Given the description of an element on the screen output the (x, y) to click on. 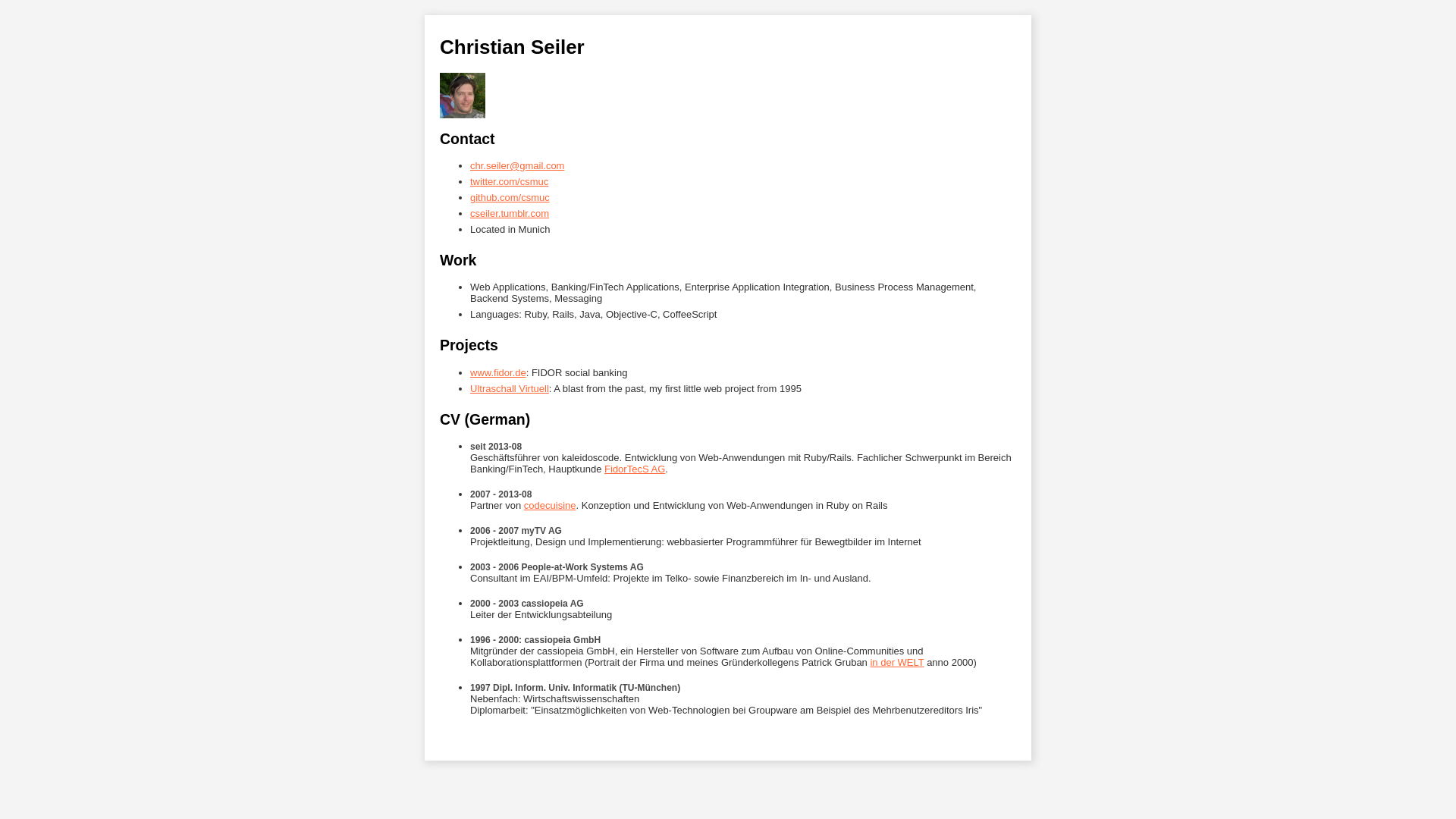
codecuisine Element type: text (550, 505)
github.com/csmuc Element type: text (509, 197)
Ultraschall Virtuell Element type: text (509, 388)
in der WELT Element type: text (896, 662)
cseiler.tumblr.com Element type: text (509, 213)
chr.seiler@gmail.com Element type: text (517, 165)
FidorTecS AG Element type: text (634, 468)
www.fidor.de Element type: text (498, 372)
twitter.com/csmuc Element type: text (509, 181)
